Given the description of an element on the screen output the (x, y) to click on. 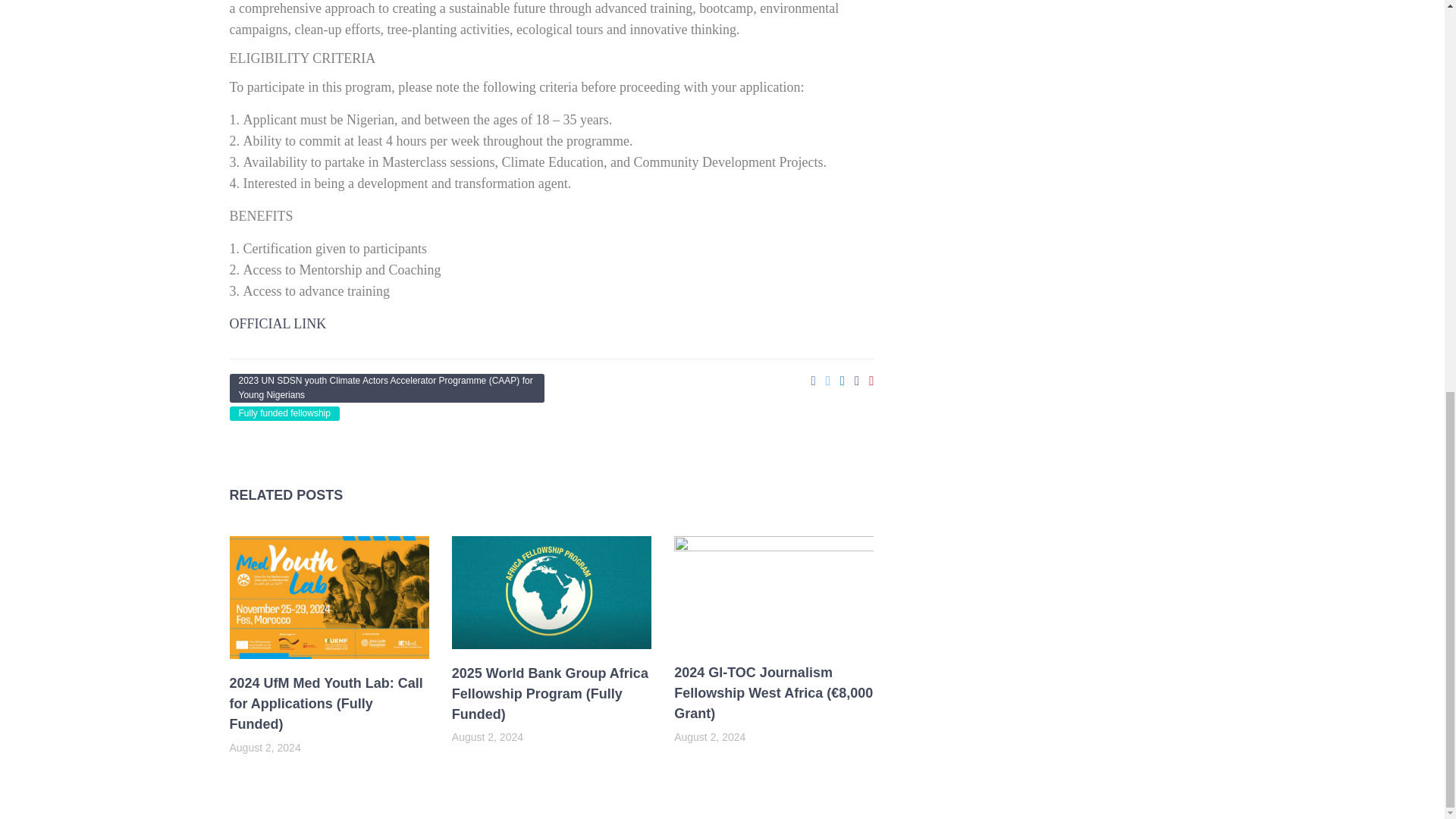
August 2, 2024 (486, 736)
August 2, 2024 (709, 736)
OFFICIAL LINK (277, 323)
August 2, 2024 (263, 747)
Fully funded fellowship (283, 413)
